Given the description of an element on the screen output the (x, y) to click on. 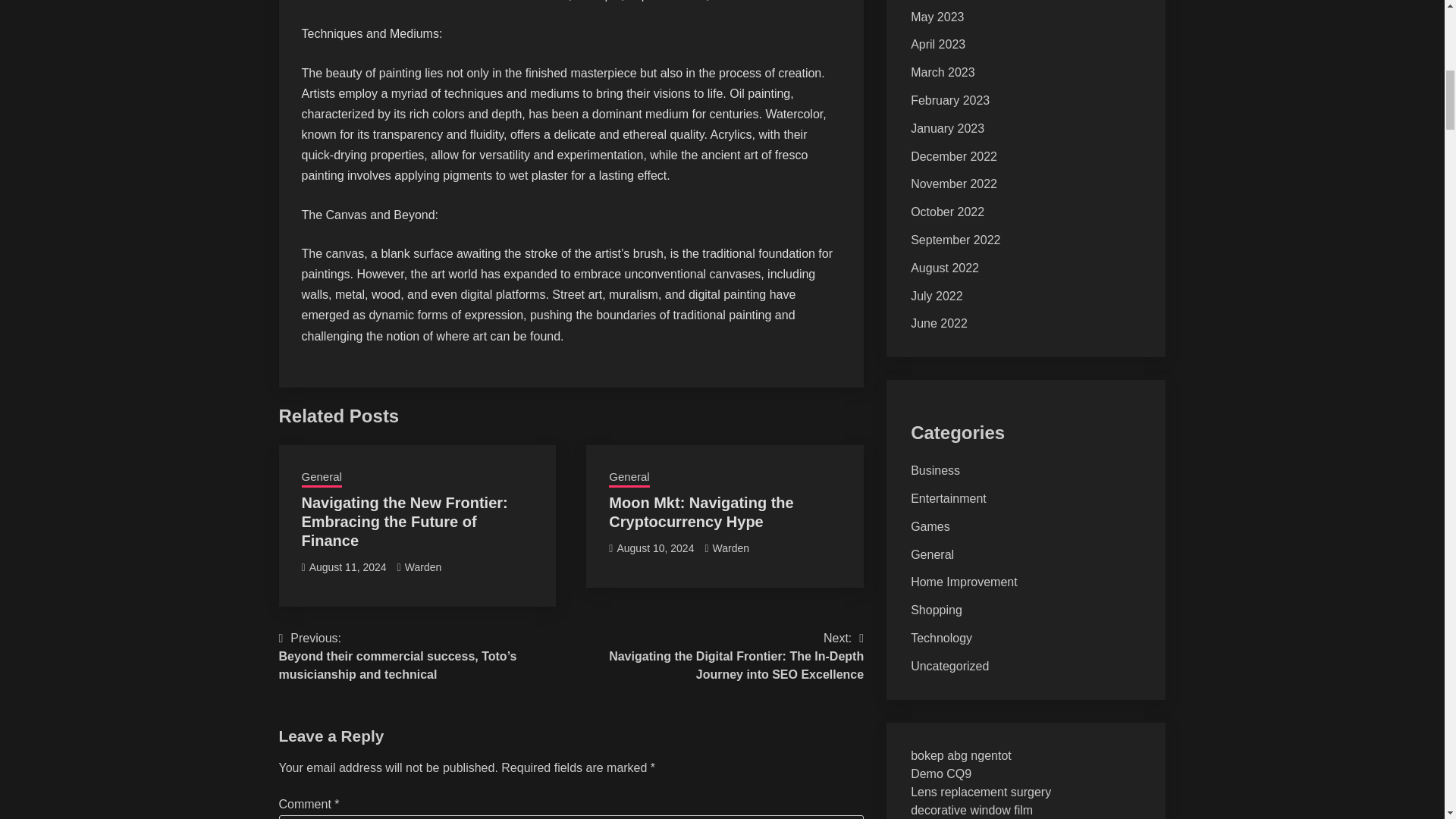
August 11, 2024 (347, 567)
Warden (423, 567)
August 10, 2024 (654, 548)
Navigating the New Frontier: Embracing the Future of Finance (404, 521)
Warden (731, 548)
General (628, 478)
Moon Mkt: Navigating the Cryptocurrency Hype (700, 511)
General (321, 478)
